Given the description of an element on the screen output the (x, y) to click on. 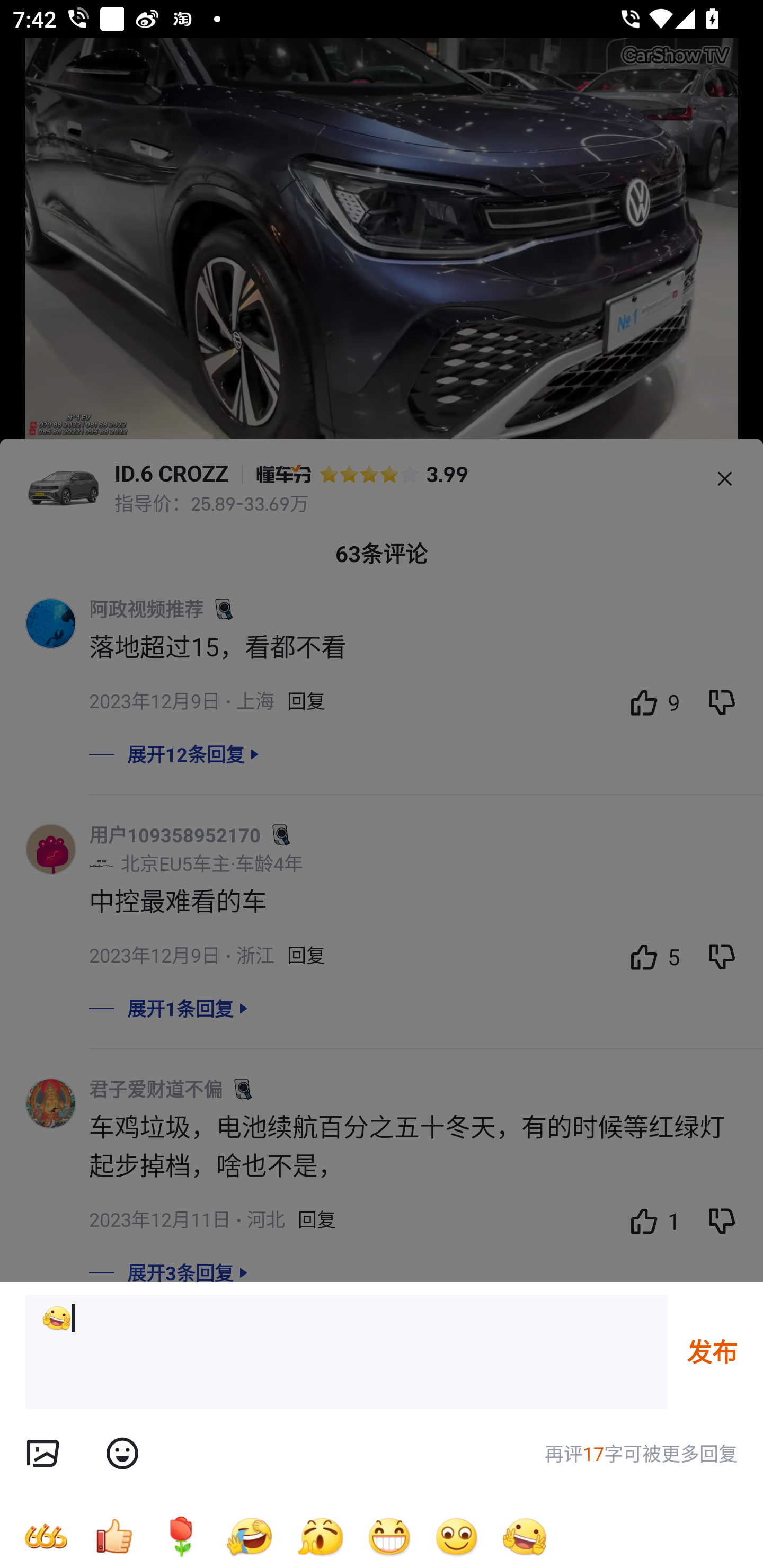
[耶] (346, 1352)
 (42, 1453)
 (122, 1453)
再评17字可被更多回复 (640, 1453)
[666] (45, 1535)
[赞] (112, 1535)
[玫瑰] (180, 1535)
[我想静静] (249, 1535)
[小鼓掌] (320, 1535)
[呲牙] (389, 1535)
[微笑] (456, 1535)
[耶] (524, 1535)
